Given the description of an element on the screen output the (x, y) to click on. 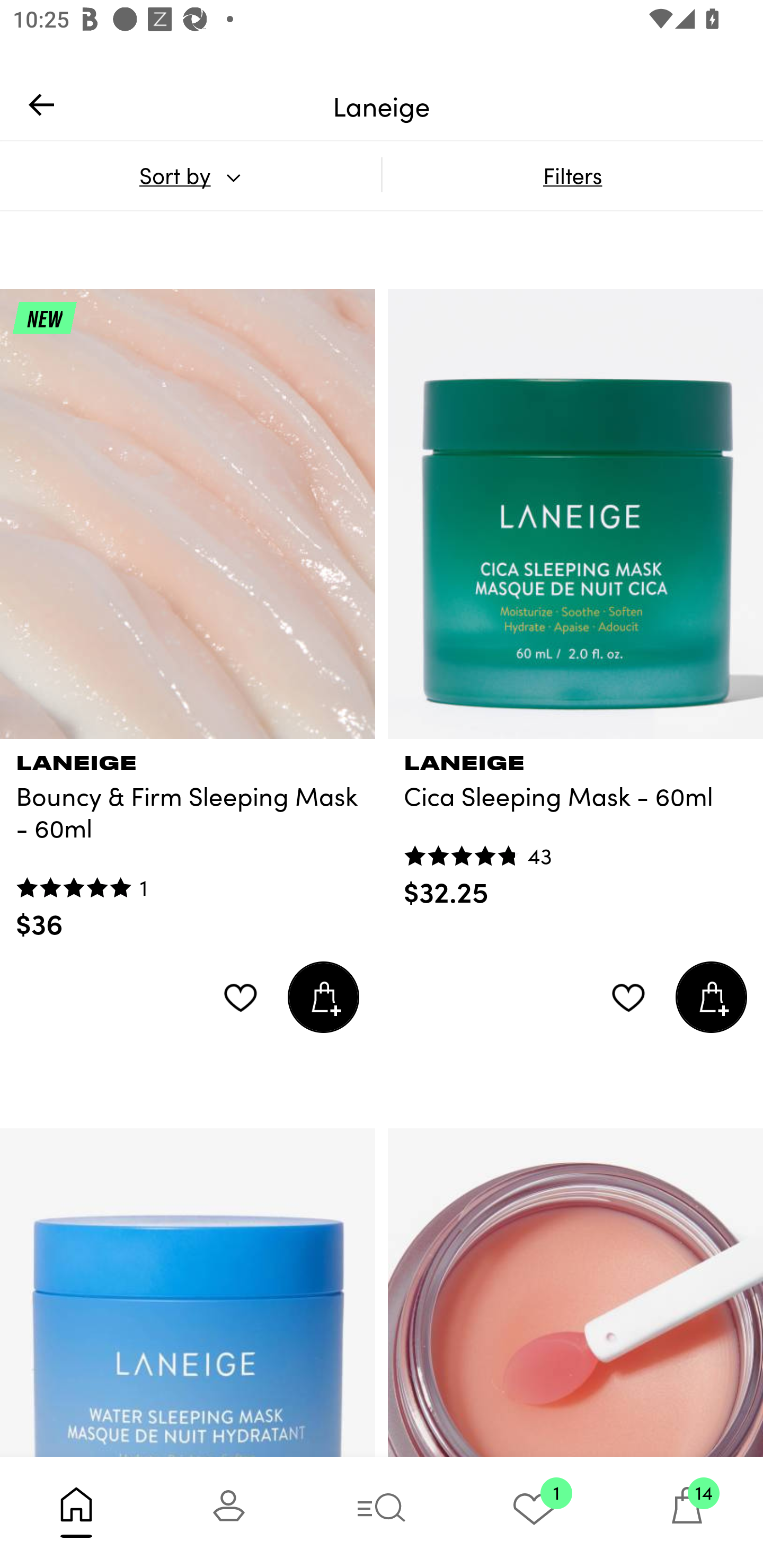
Sort by (190, 174)
Filters (572, 174)
LANEIGE Bouncy & Firm Sleeping Mask - 60ml 1 $36 (187, 840)
LANEIGE Cica Sleeping Mask - 60ml 43 $32.25 (575, 824)
1 (533, 1512)
14 (686, 1512)
